Given the description of an element on the screen output the (x, y) to click on. 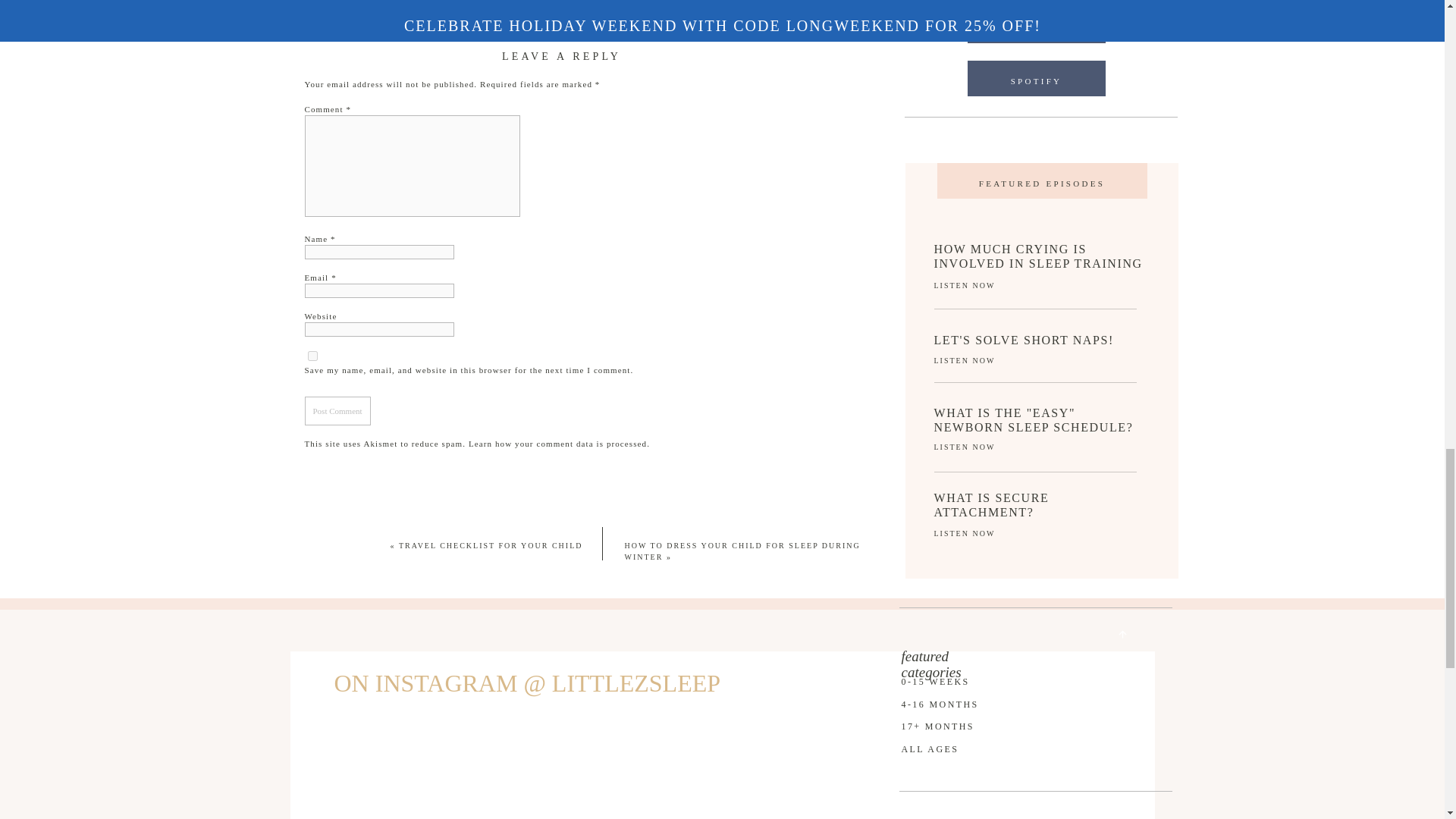
HOW MUCH CRYING IS INVOLVED IN SLEEP TRAINING (1039, 259)
WHAT IS THE "EASY" NEWBORN SLEEP SCHEDULE? (1038, 418)
APPLE PODCAST (1036, 30)
SPOTIFY (1036, 83)
yes (312, 355)
LET'S SOLVE SHORT NAPS! (1042, 341)
LISTEN NOW (970, 447)
LISTEN NOW (979, 285)
LISTEN NOW (972, 360)
Post Comment (337, 410)
